Given the description of an element on the screen output the (x, y) to click on. 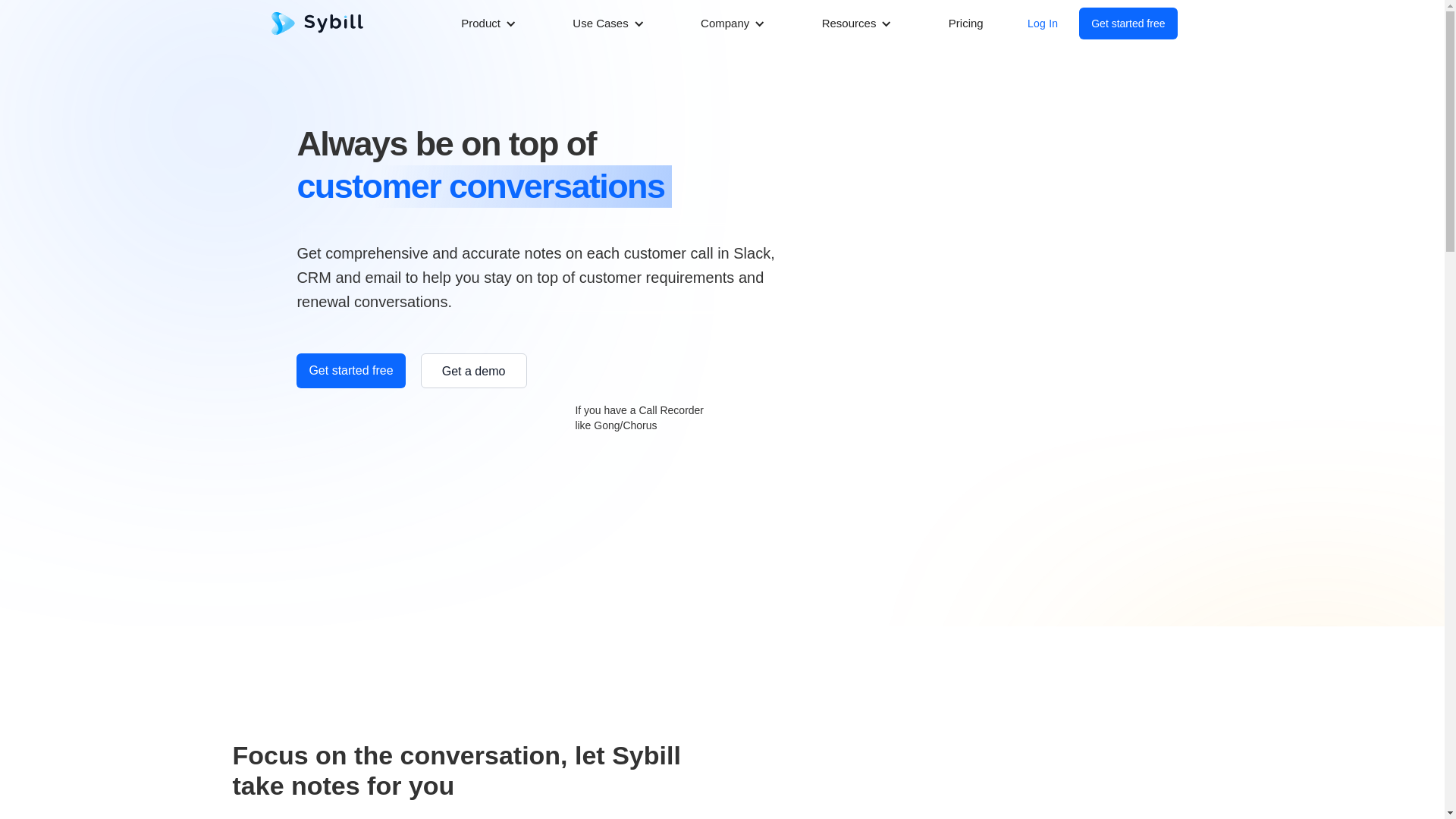
Get started free (1127, 23)
Log In (1042, 23)
Pricing (965, 22)
